Given the description of an element on the screen output the (x, y) to click on. 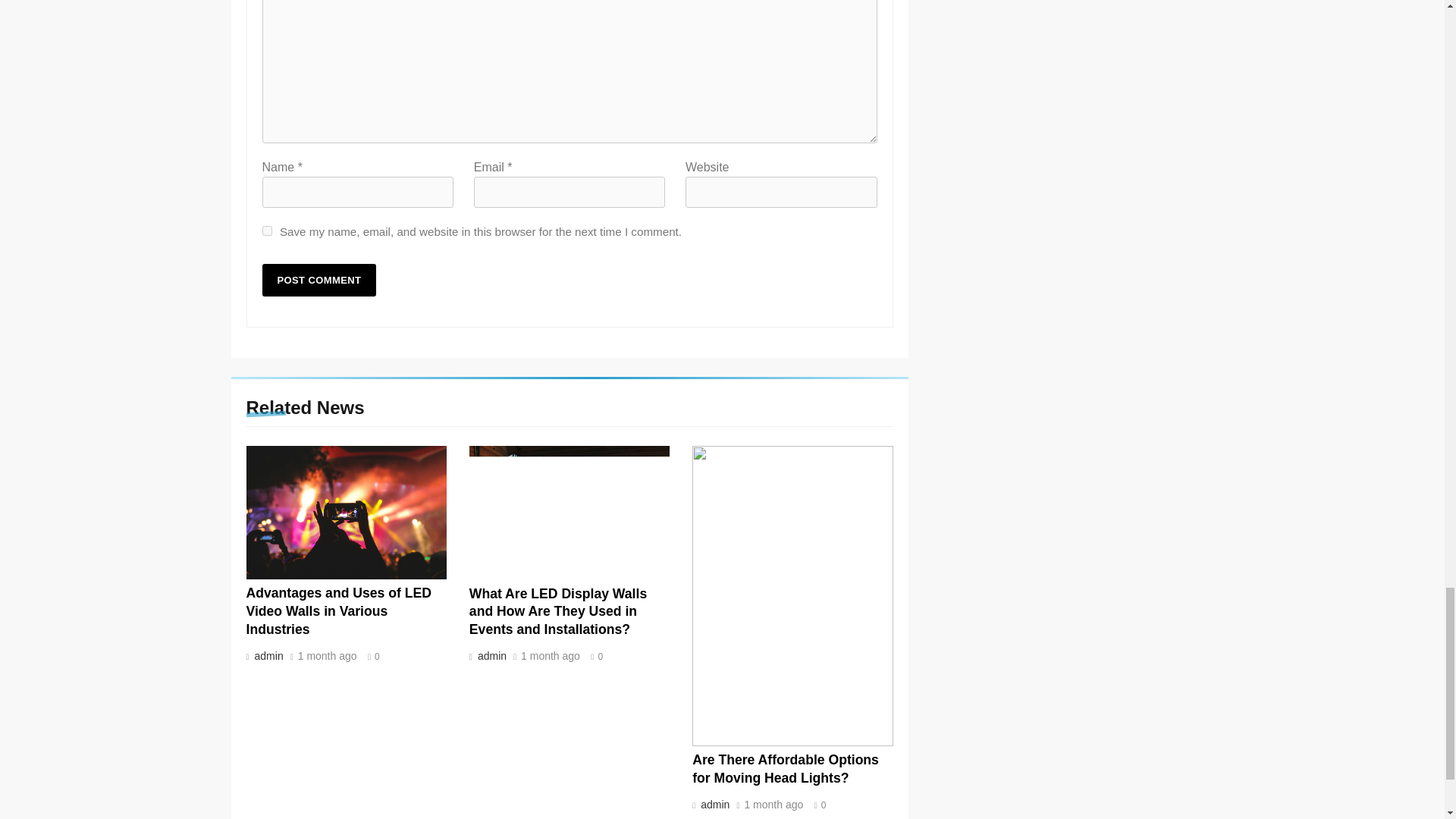
Advantages and Uses of LED Video Walls in Various Industries (338, 611)
admin (267, 655)
1 month ago (550, 656)
1 month ago (327, 656)
Post Comment (319, 279)
admin (490, 655)
Post Comment (319, 279)
Are There Affordable Options for Moving Head Lights? (786, 768)
yes (267, 230)
